Given the description of an element on the screen output the (x, y) to click on. 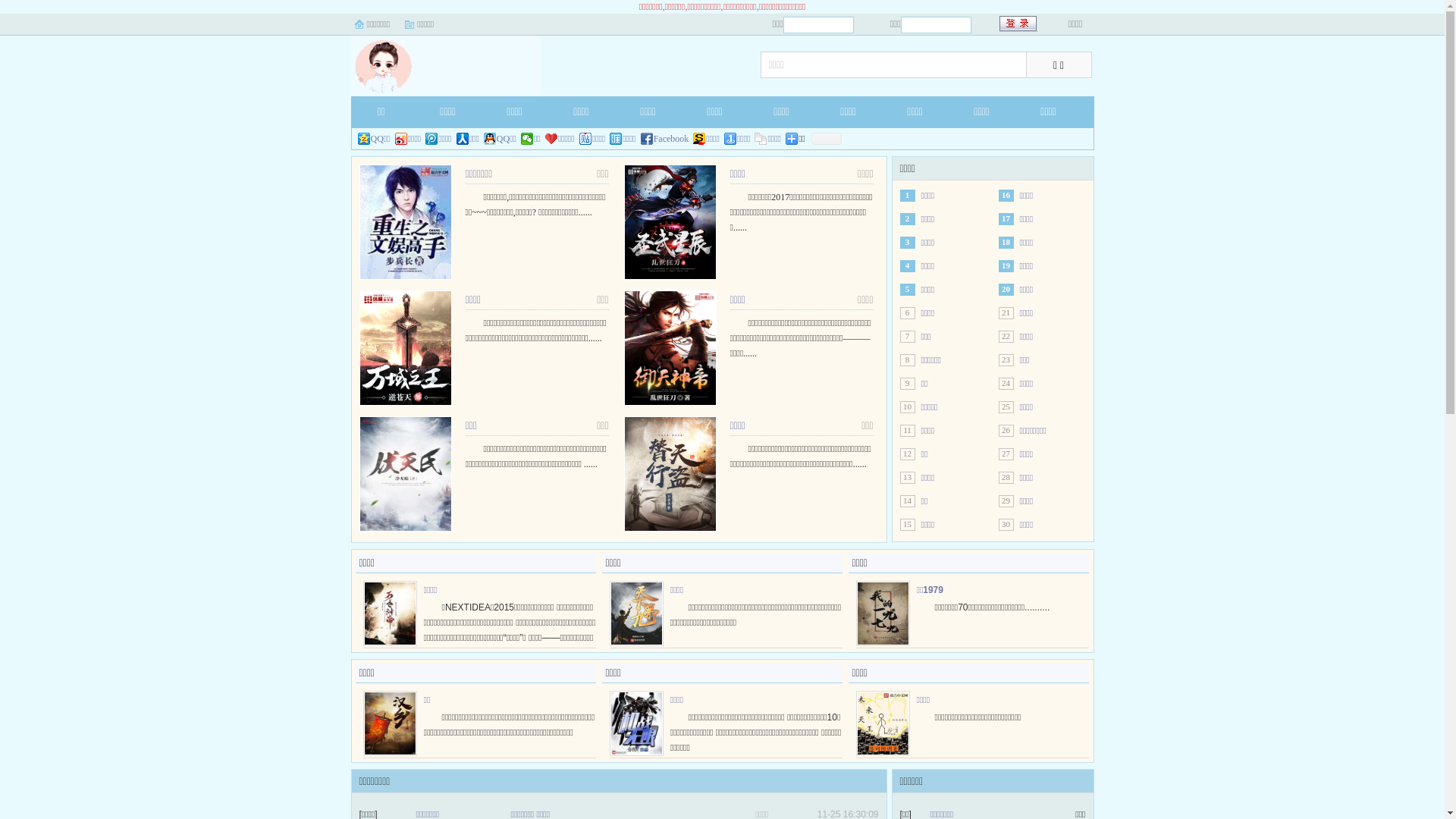
Facebook Element type: text (664, 138)
